Given the description of an element on the screen output the (x, y) to click on. 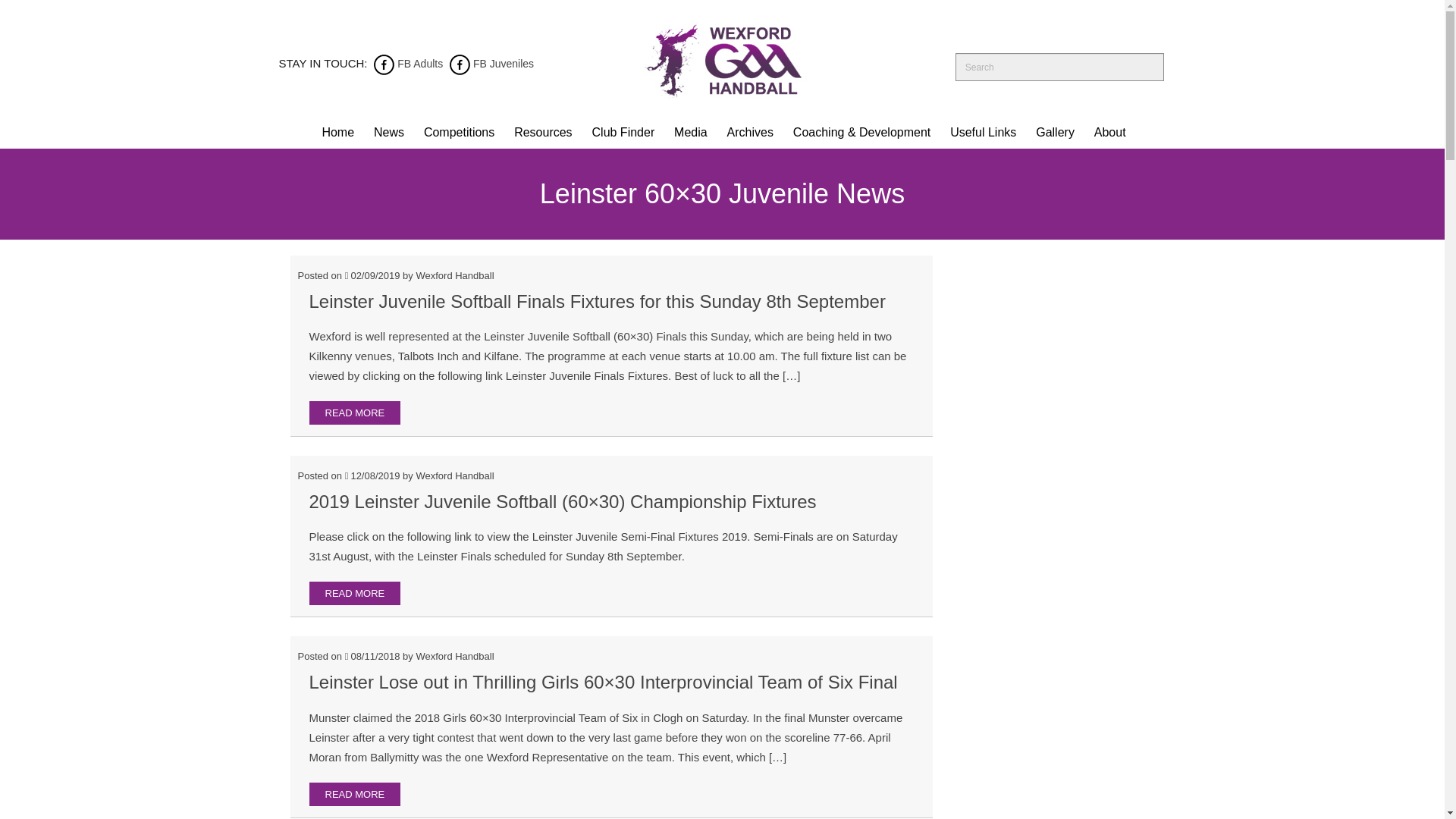
News (388, 132)
Search (1144, 67)
Search (1144, 67)
Home (337, 132)
facebook-juveniles (459, 63)
Competitions (458, 132)
facebook-adults (384, 63)
